Given the description of an element on the screen output the (x, y) to click on. 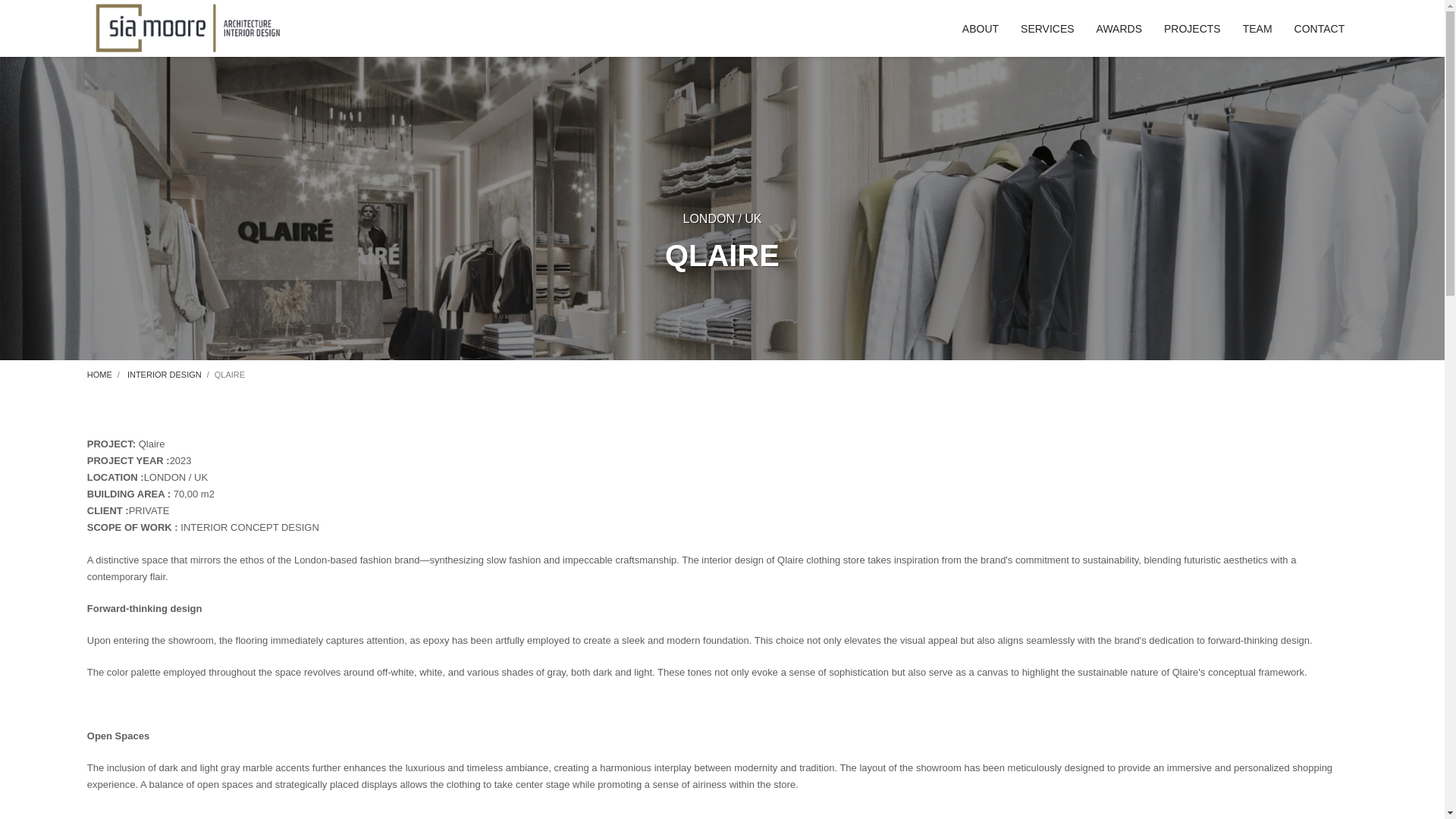
Sia Moore - Architecture Interior Design (186, 28)
ABOUT (980, 27)
HOME (99, 374)
1 (226, 811)
AWARDS (1119, 27)
PROJECTS (1192, 27)
INTERIOR DESIGN (163, 374)
CONTACT (1319, 27)
SERVICES (1047, 27)
TEAM (1257, 27)
